Given the description of an element on the screen output the (x, y) to click on. 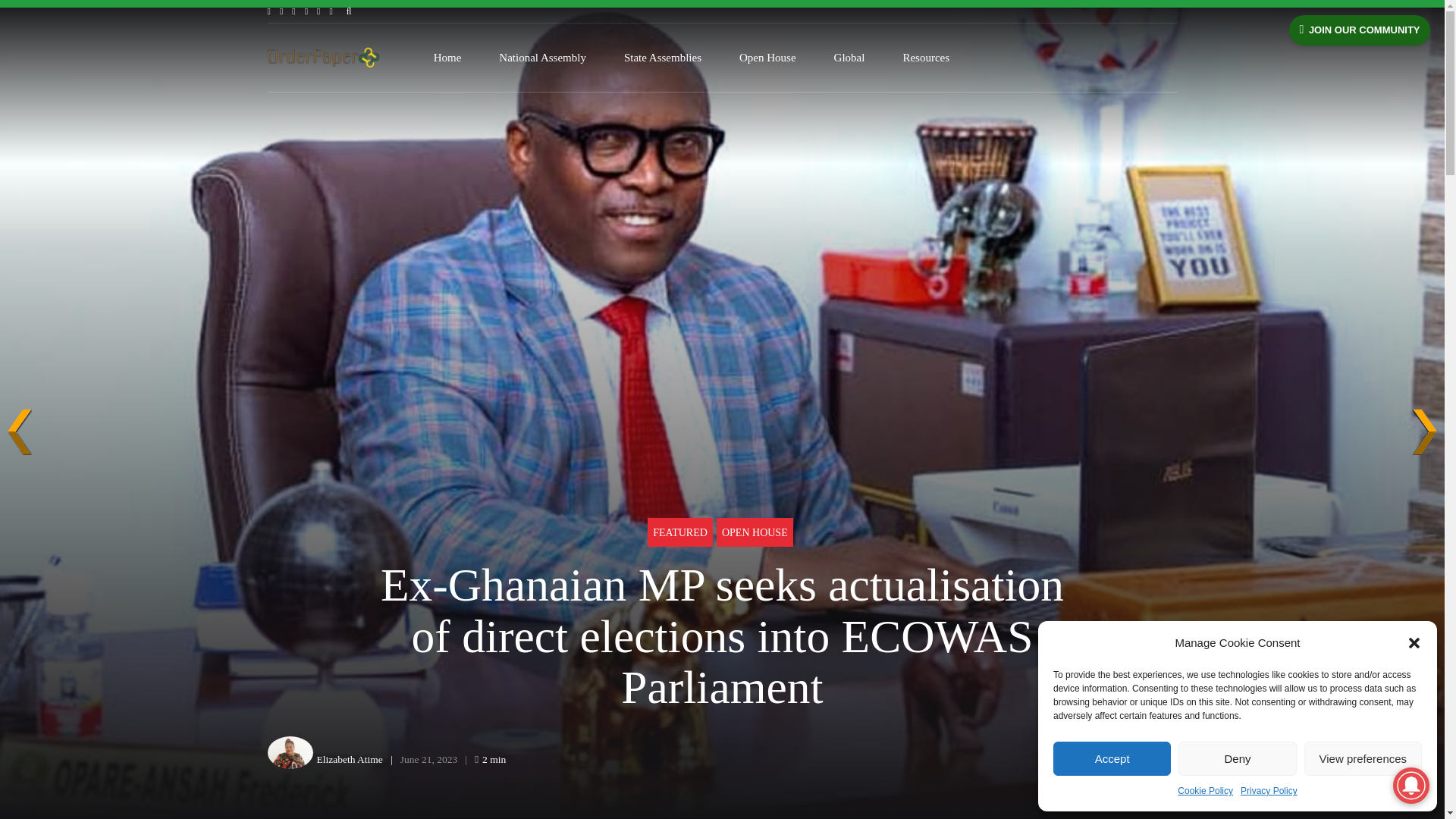
Accept (1111, 758)
Share on Linkedin (1130, 760)
Deny (1236, 758)
View preferences (1363, 758)
Share on Facebook (1069, 760)
National Assembly (542, 57)
Share on WhatsApp (1162, 760)
Cookie Policy (1205, 791)
State Assemblies (662, 57)
Privacy Policy (1268, 791)
